Given the description of an element on the screen output the (x, y) to click on. 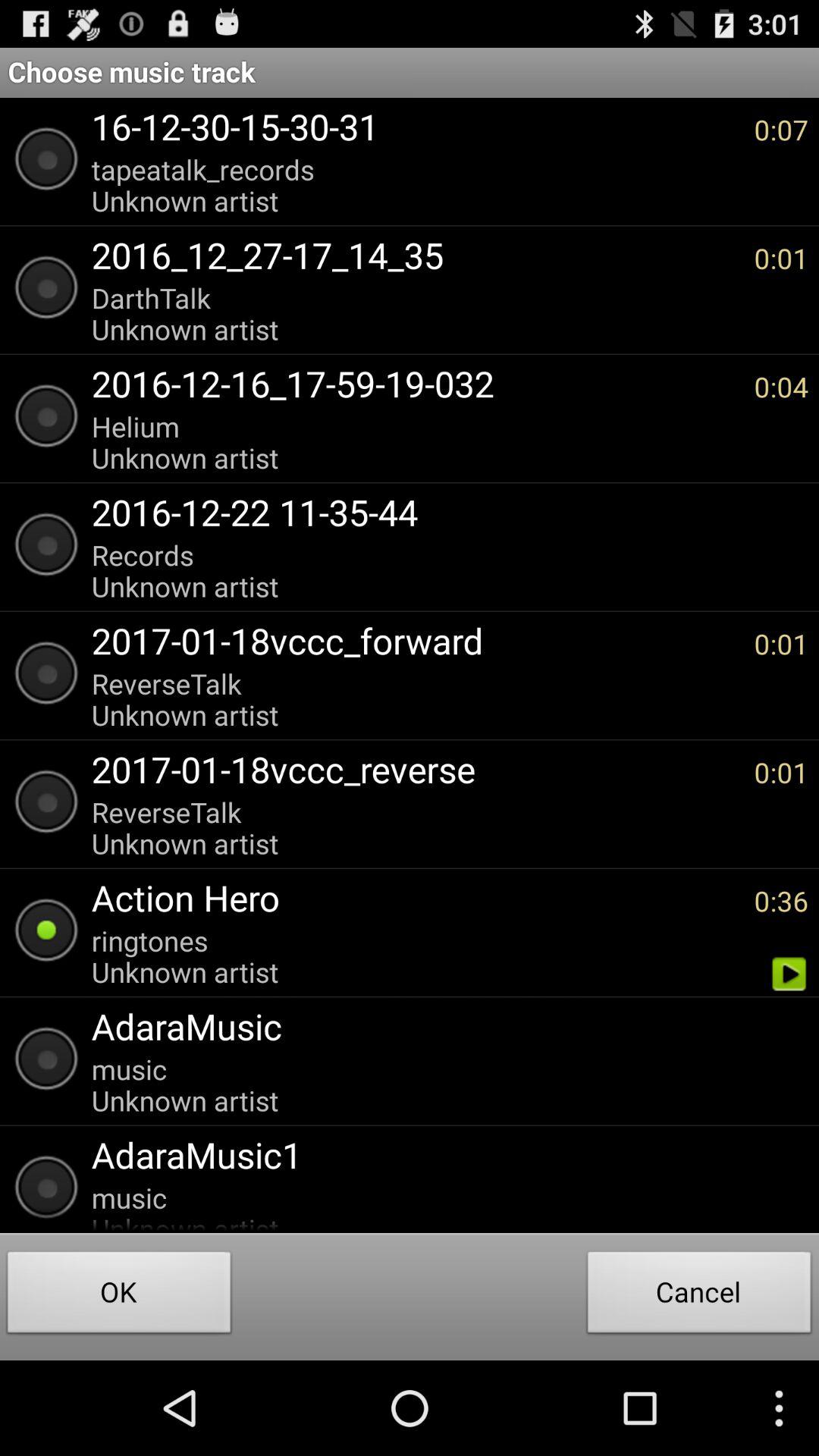
turn on item next to the 0:36 app (414, 897)
